Given the description of an element on the screen output the (x, y) to click on. 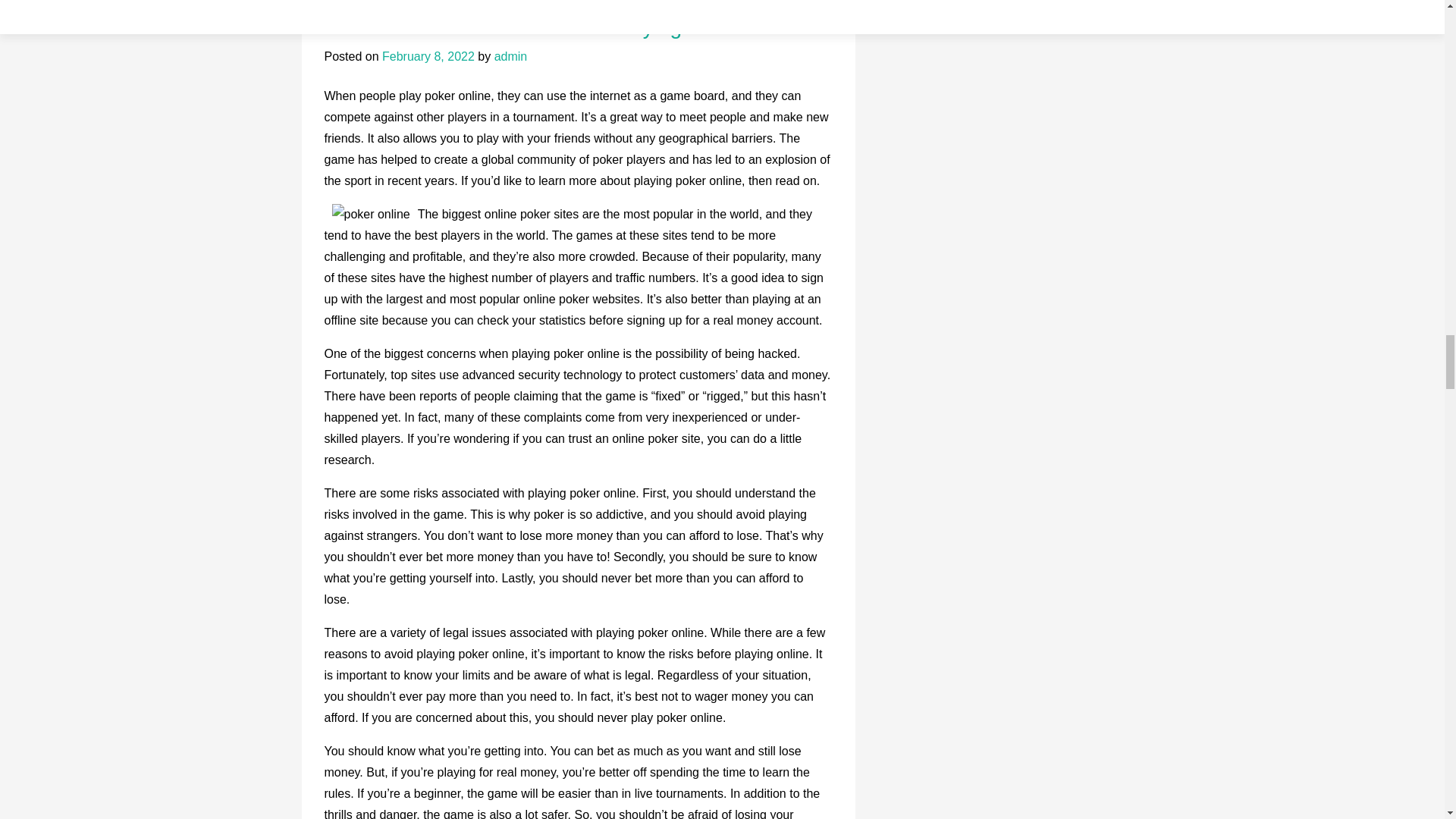
admin (511, 56)
What You Should Know About Playing Poker Online (567, 26)
February 8, 2022 (427, 56)
